Given the description of an element on the screen output the (x, y) to click on. 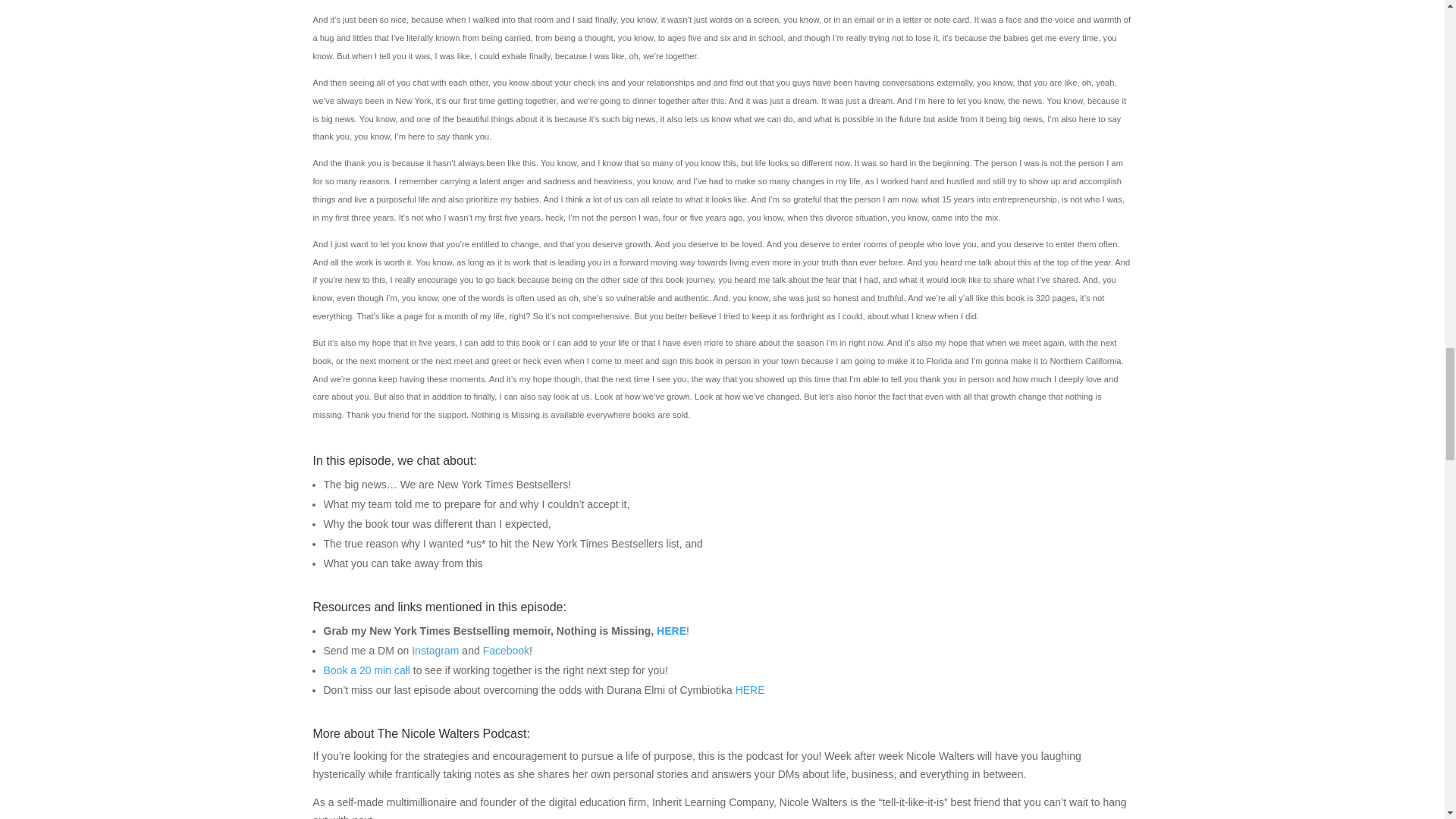
HERE (750, 689)
Instagram (435, 650)
HERE (670, 630)
Book a 20 min call (366, 670)
Facebook (506, 650)
